Given the description of an element on the screen output the (x, y) to click on. 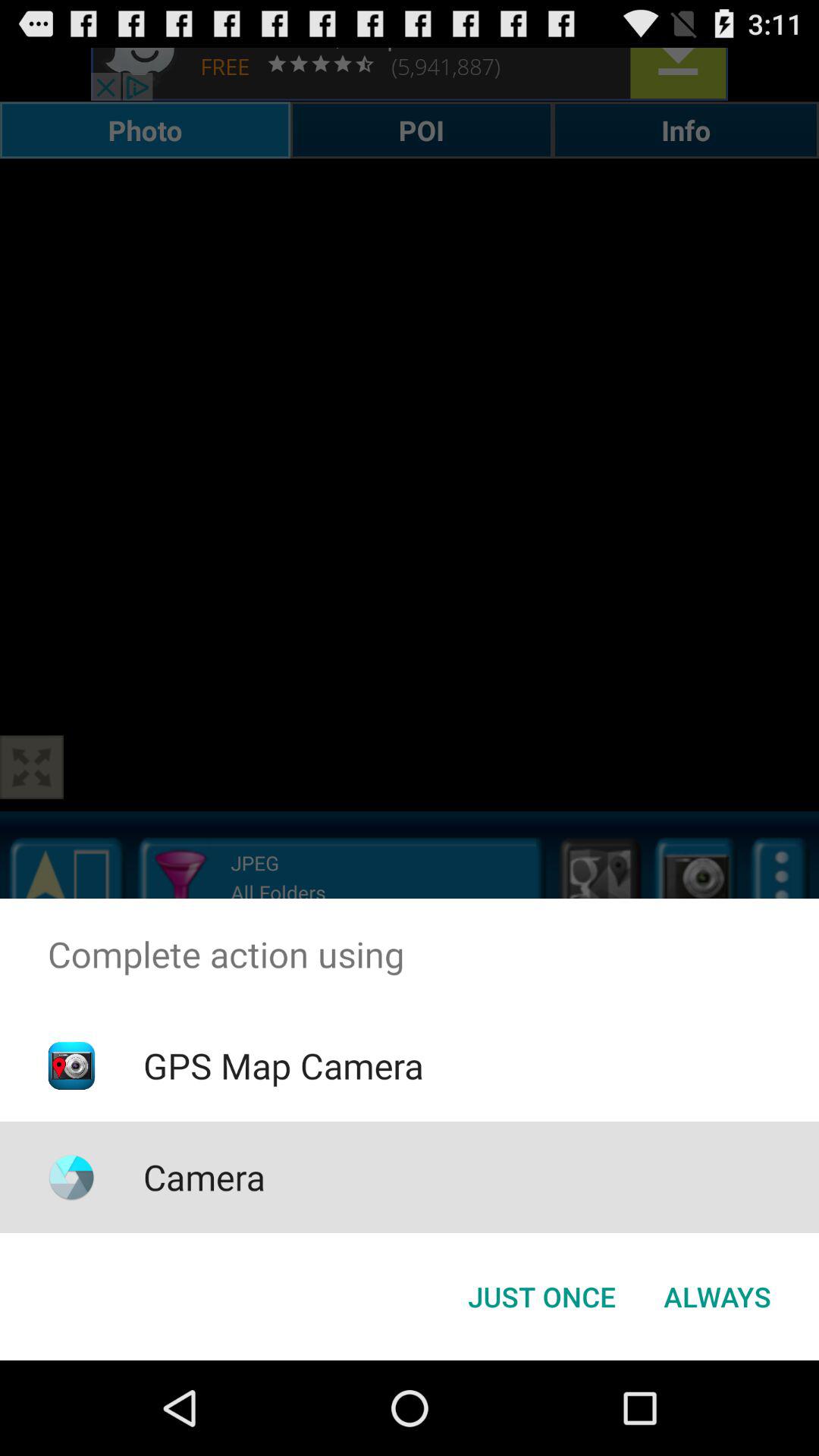
jump to always button (717, 1296)
